Given the description of an element on the screen output the (x, y) to click on. 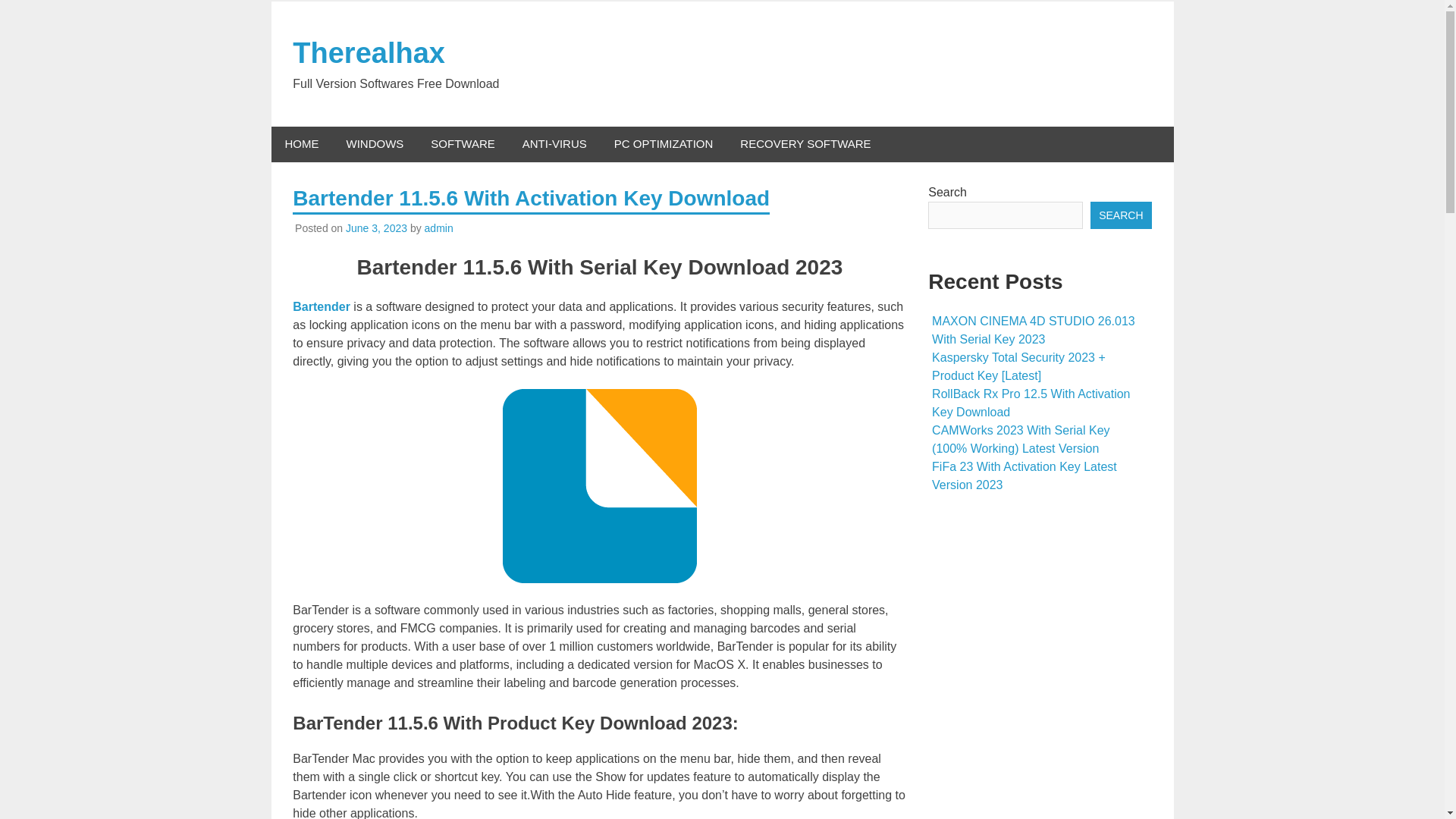
HOME (301, 144)
June 3, 2023 (376, 227)
Therealhax (368, 52)
RECOVERY SOFTWARE (804, 144)
ANTI-VIRUS (553, 144)
PC OPTIMIZATION (662, 144)
WINDOWS (373, 144)
View all posts by admin (438, 227)
admin (438, 227)
SOFTWARE (462, 144)
